Given the description of an element on the screen output the (x, y) to click on. 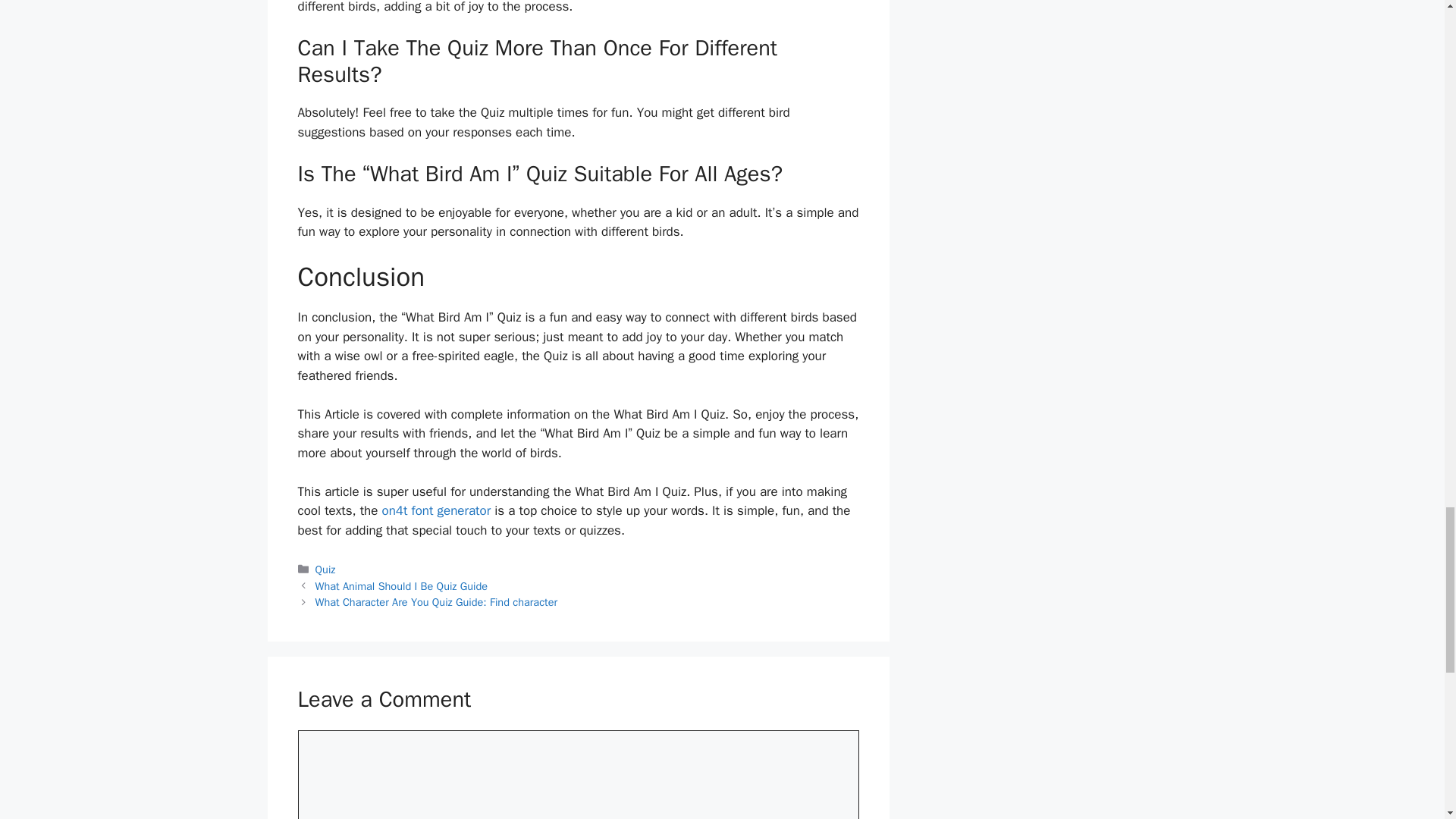
on4t font generator (436, 510)
What Character Are You Quiz Guide: Find character (436, 602)
What Animal Should I Be Quiz Guide (401, 585)
Quiz (325, 569)
